Given the description of an element on the screen output the (x, y) to click on. 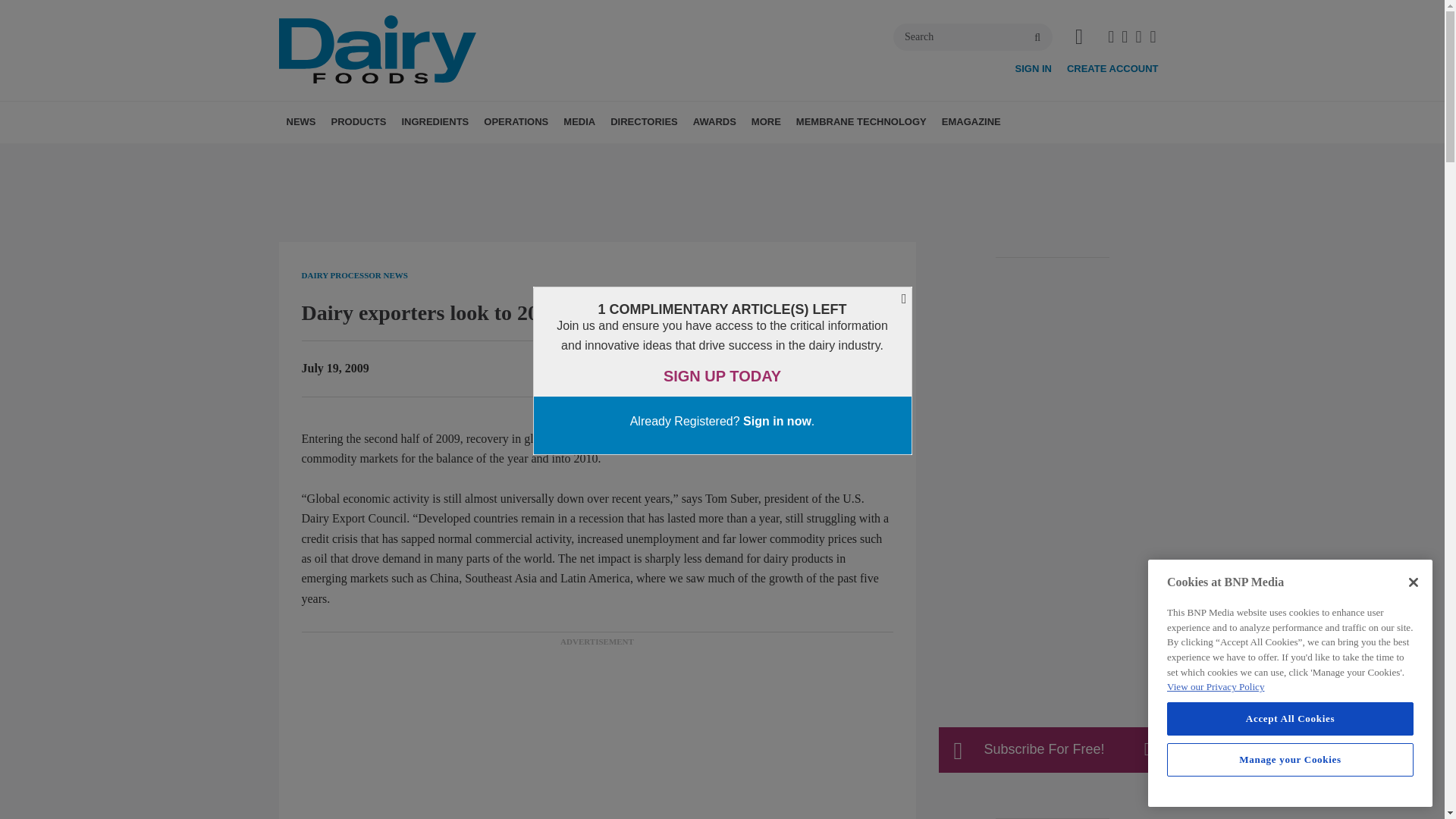
Search (972, 36)
Search (972, 36)
